Given the description of an element on the screen output the (x, y) to click on. 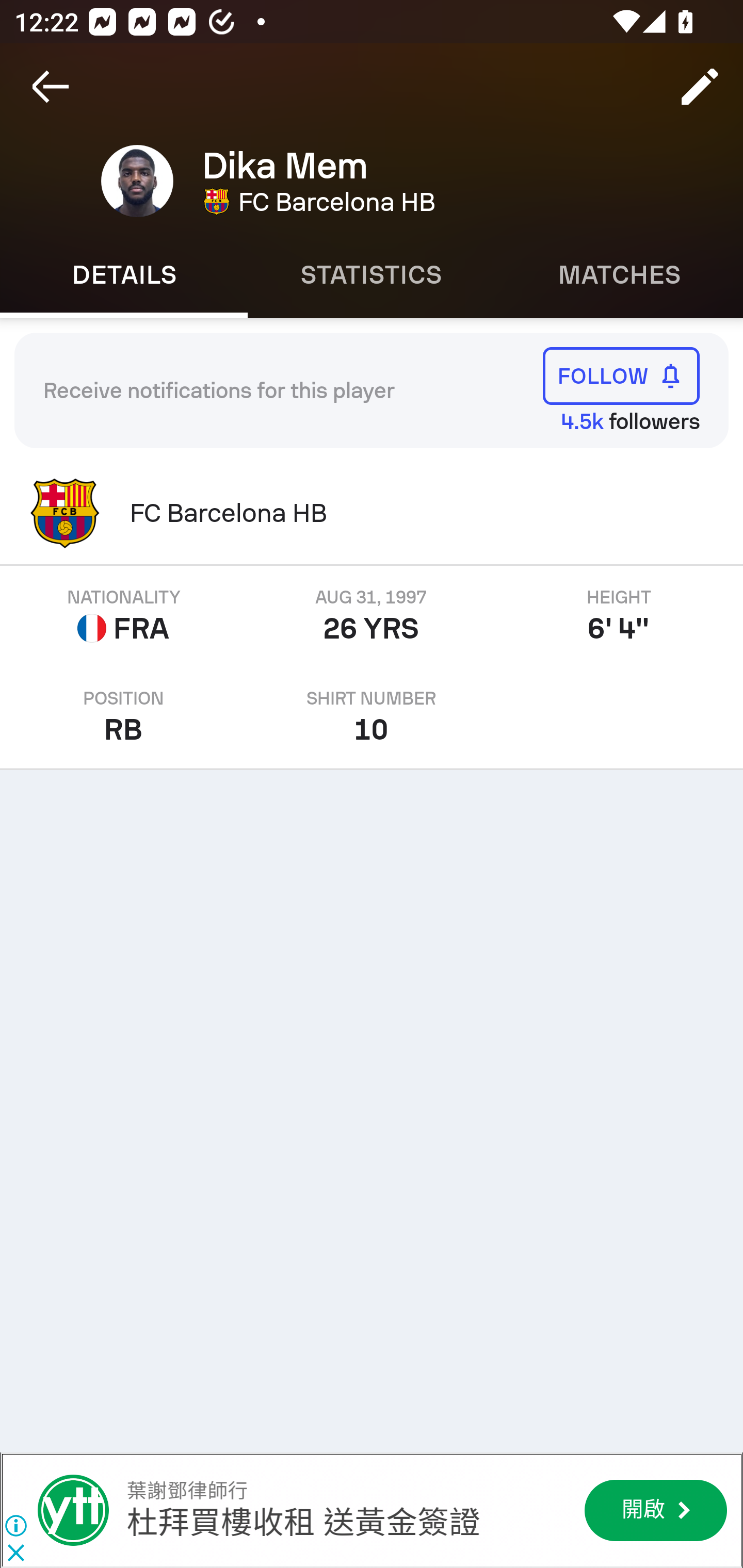
Navigate up (50, 86)
Edit (699, 86)
Statistics STATISTICS (371, 275)
Matches MATCHES (619, 275)
FOLLOW (621, 375)
FC Barcelona HB (371, 513)
NATIONALITY FRA (123, 616)
POSITION RB (123, 717)
葉謝鄧律師行 (73, 1510)
葉謝鄧律師行 (186, 1491)
開啟 (655, 1509)
杜拜買樓收租 送黃金簽證 (302, 1522)
